Given the description of an element on the screen output the (x, y) to click on. 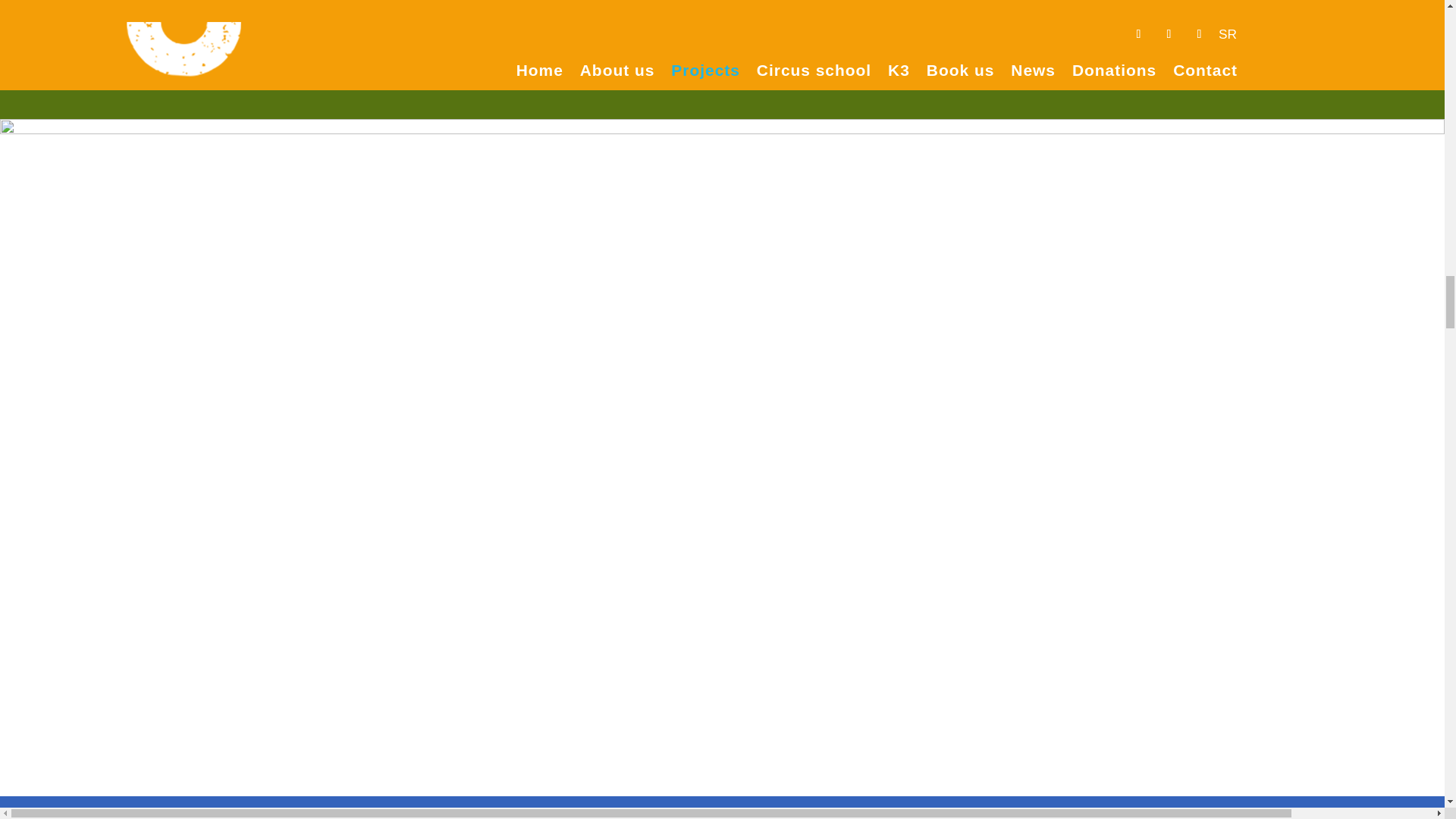
cirkusom-do-balansa (1065, 31)
